Given the description of an element on the screen output the (x, y) to click on. 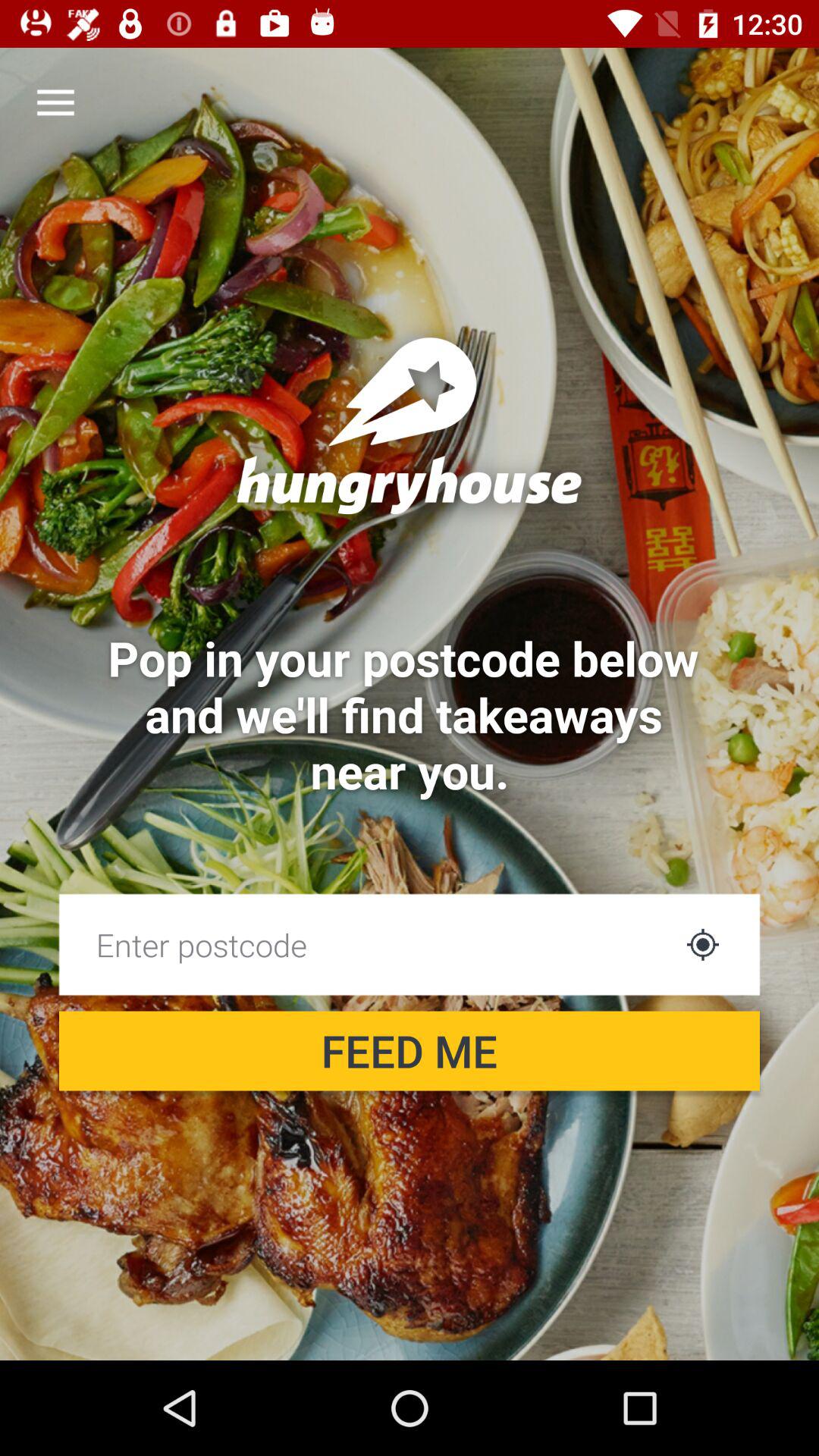
search box (365, 944)
